Given the description of an element on the screen output the (x, y) to click on. 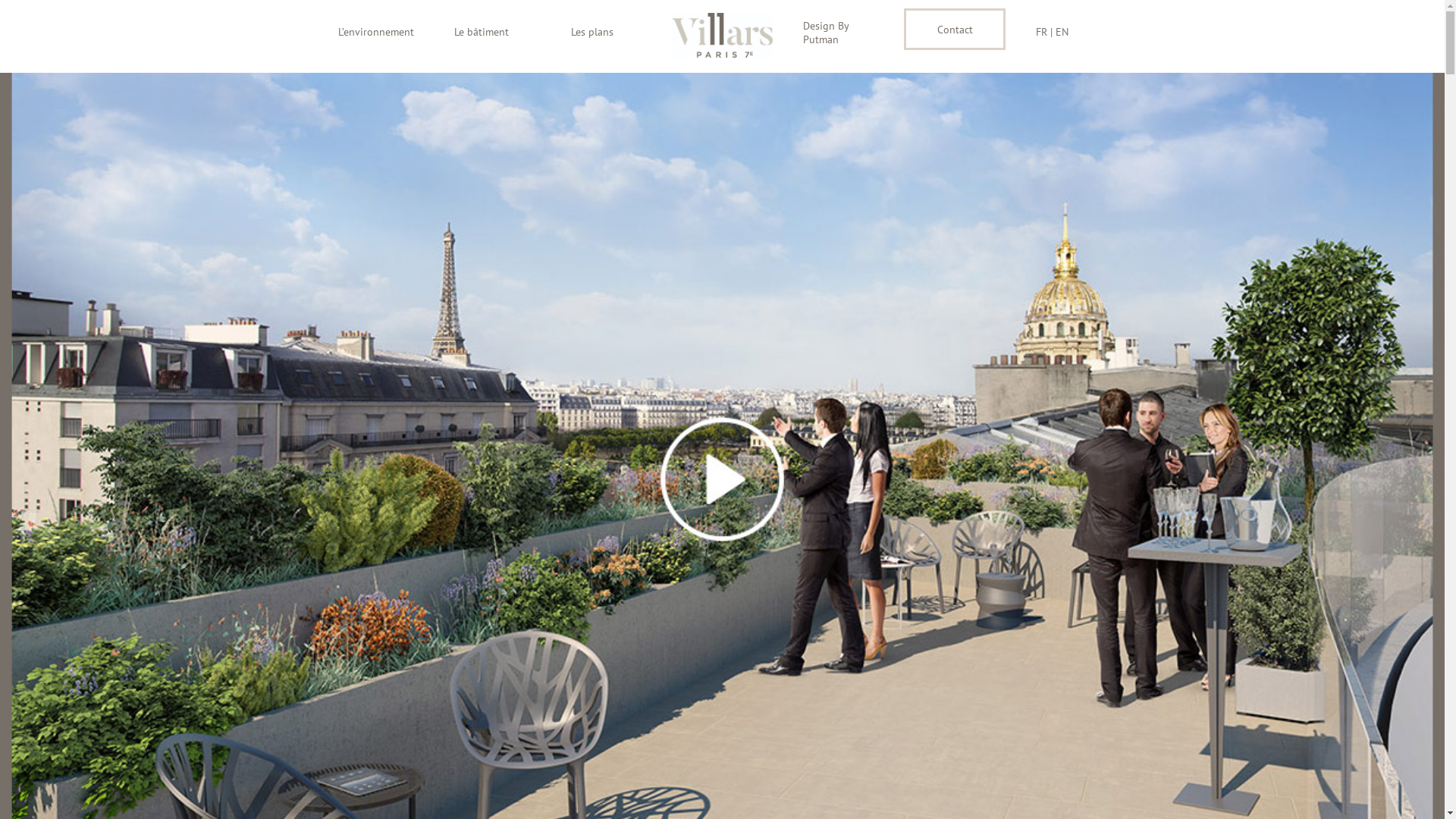
Design By Putman Element type: text (837, 32)
Les plans Element type: text (605, 31)
Contact Element type: text (953, 29)
FR | EN Element type: text (1070, 31)
